Given the description of an element on the screen output the (x, y) to click on. 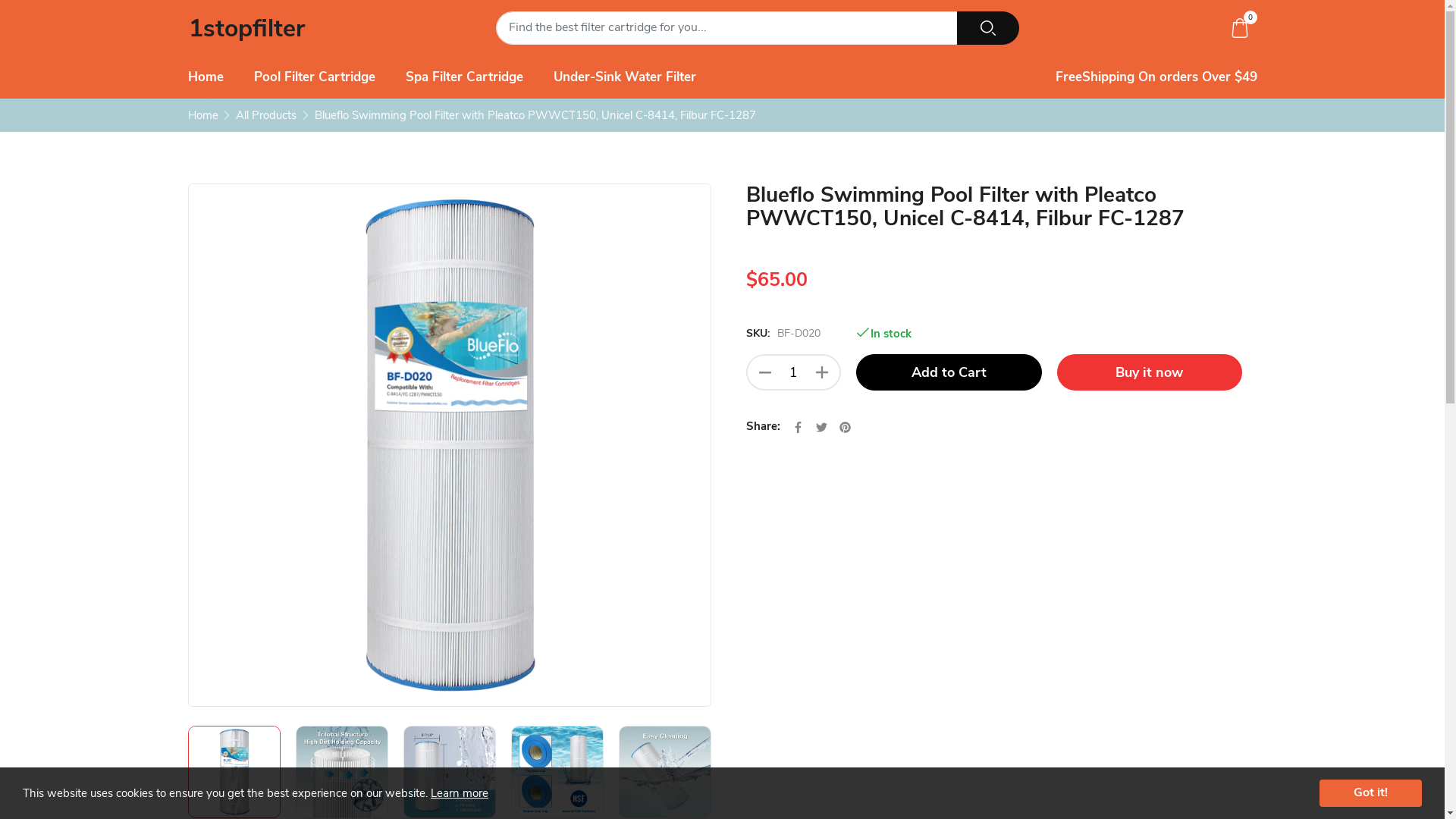
Learn more Element type: text (459, 792)
Pin on Pinterest
Opens in a new window. Element type: text (844, 425)
Under-Sink Water Filter Element type: text (624, 77)
Home Element type: text (203, 114)
Spa Filter Cartridge Element type: text (463, 77)
Got it! Element type: text (1370, 792)
Tweet on Twitter
Opens in a new window. Element type: text (821, 425)
Pool Filter Cartridge Element type: text (313, 77)
1stopfilter Element type: text (246, 32)
0 Element type: text (1239, 27)
Share on Facebook
Opens in a new window. Element type: text (797, 425)
Home Element type: text (205, 77)
Add to Cart Element type: text (948, 372)
Buy it now Element type: text (1149, 372)
All Products Element type: text (265, 114)
